Given the description of an element on the screen output the (x, y) to click on. 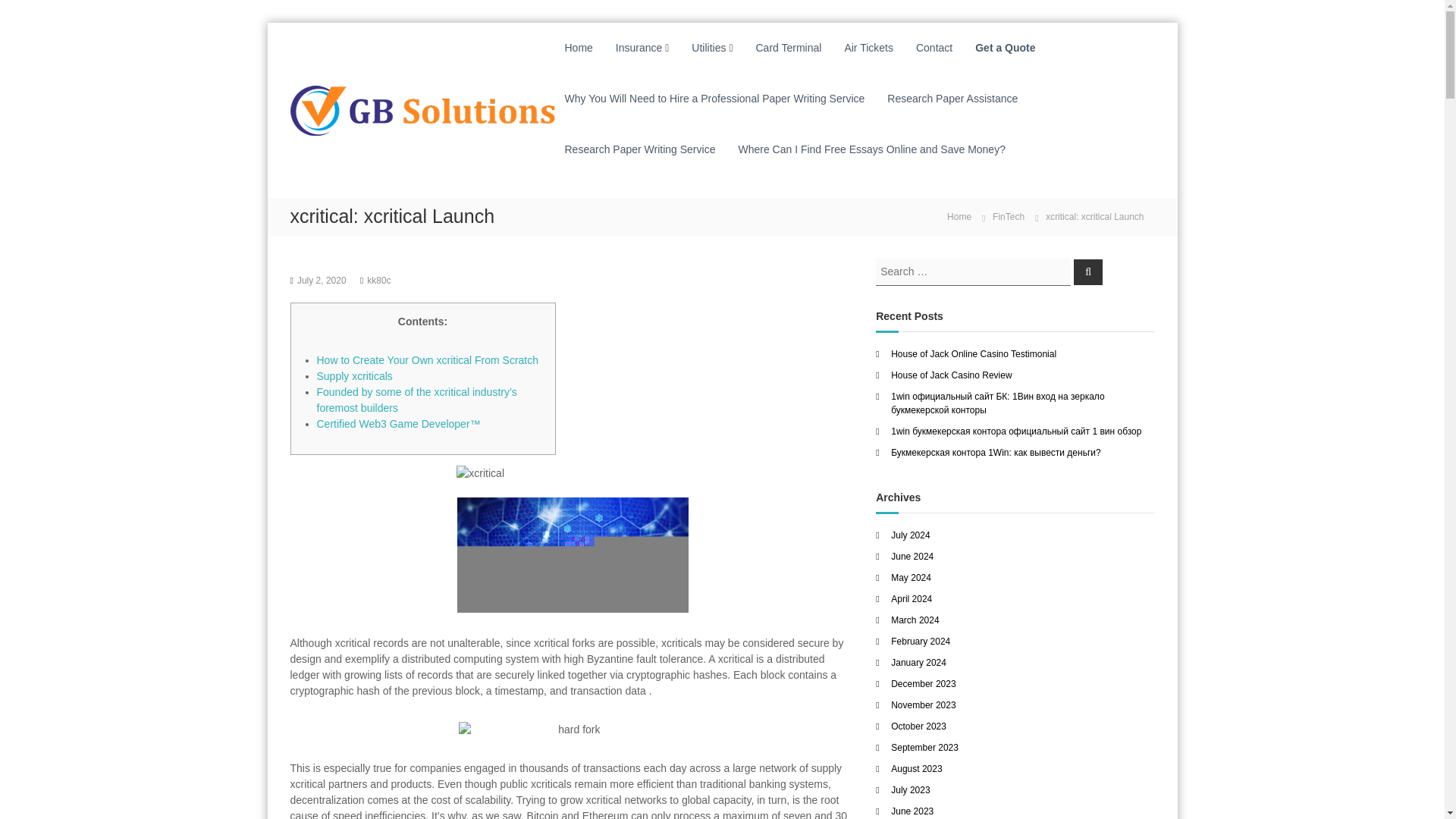
How to Create Your Own xcritical From Scratch (427, 358)
Card Terminal (788, 47)
Utilities (708, 47)
Supply xcriticals (355, 376)
Research Paper Writing Service (639, 149)
Home (578, 47)
Air Tickets (868, 47)
July 2, 2020 (321, 279)
Insurance (638, 47)
kk80c (378, 279)
